Given the description of an element on the screen output the (x, y) to click on. 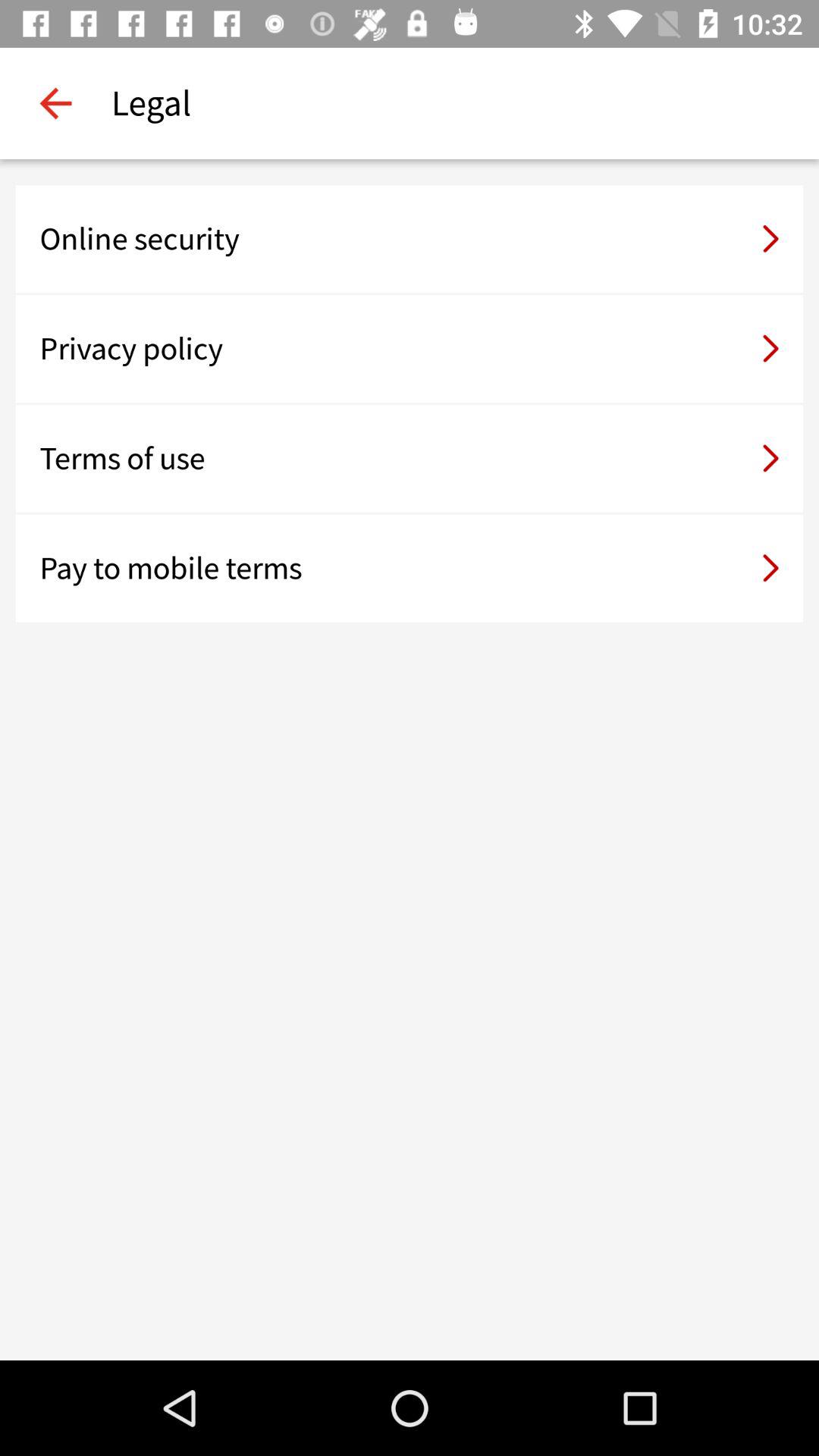
turn off privacy policy item (409, 348)
